Given the description of an element on the screen output the (x, y) to click on. 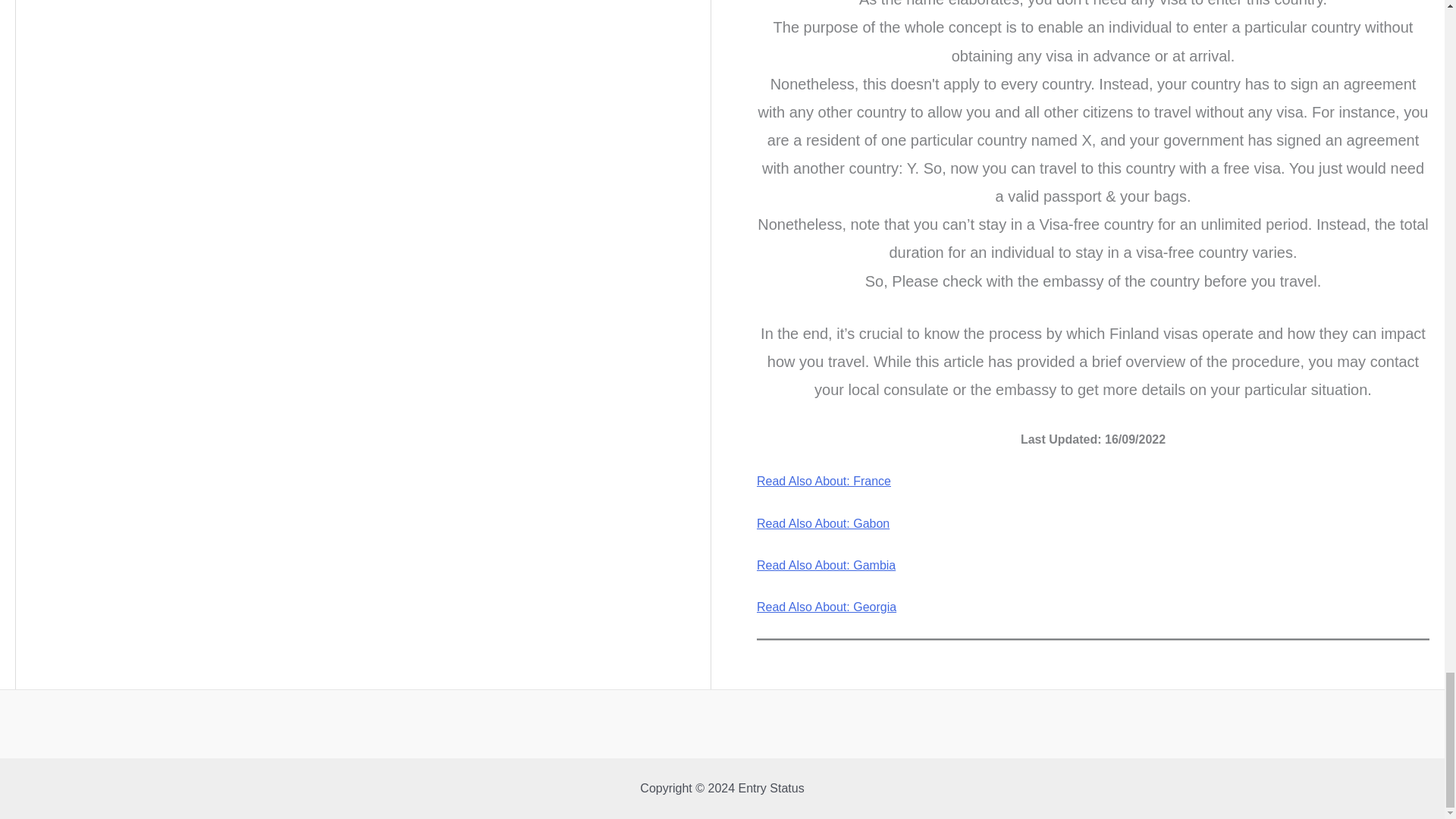
Read Also About: Georgia (826, 606)
Read Also About: France (824, 481)
Read Also About: Gabon (823, 522)
Read Also About: Gambia (826, 564)
